Given the description of an element on the screen output the (x, y) to click on. 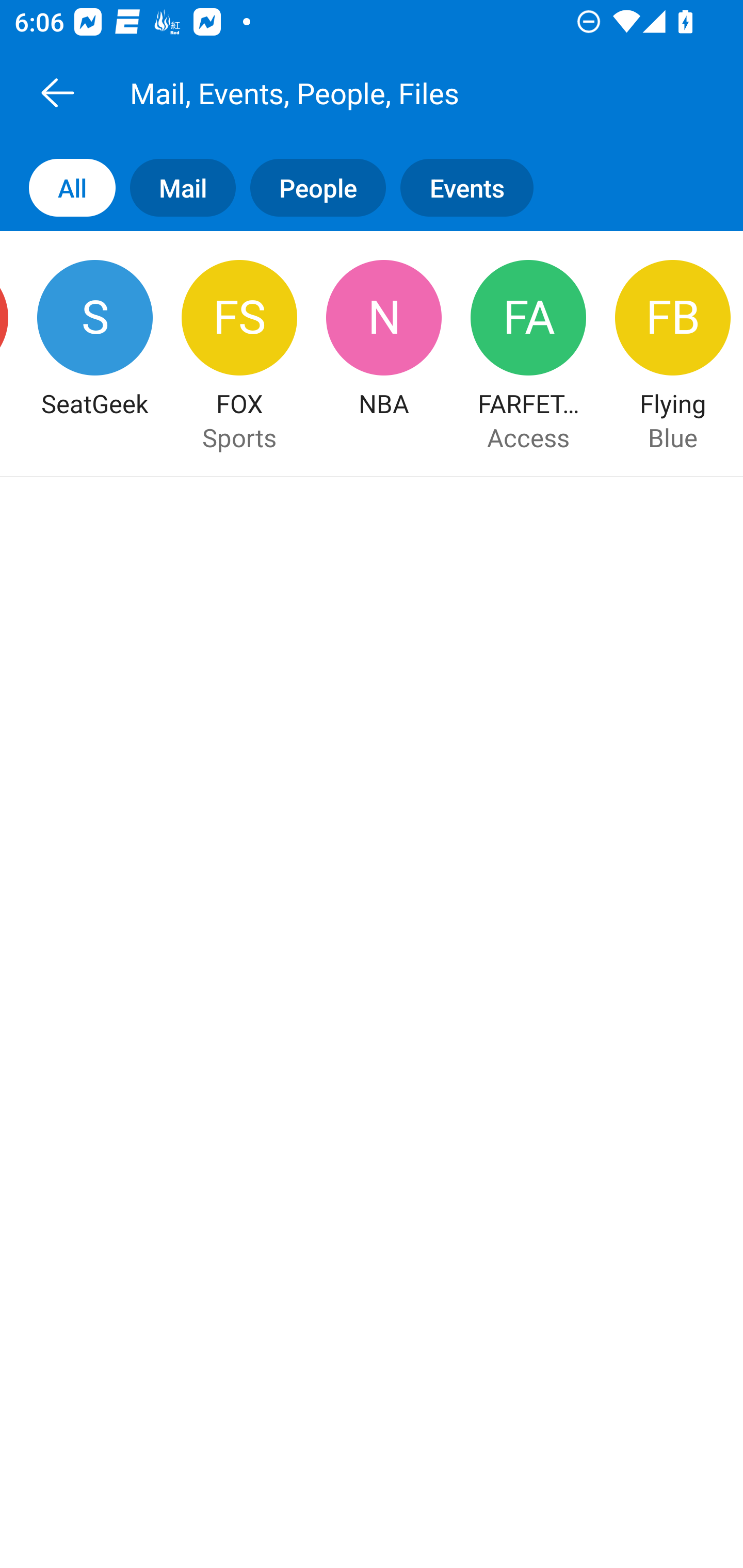
Back (57, 92)
Mail, Events, People, Files (394, 92)
Mail (175, 187)
People (310, 187)
Events (473, 187)
